Given the description of an element on the screen output the (x, y) to click on. 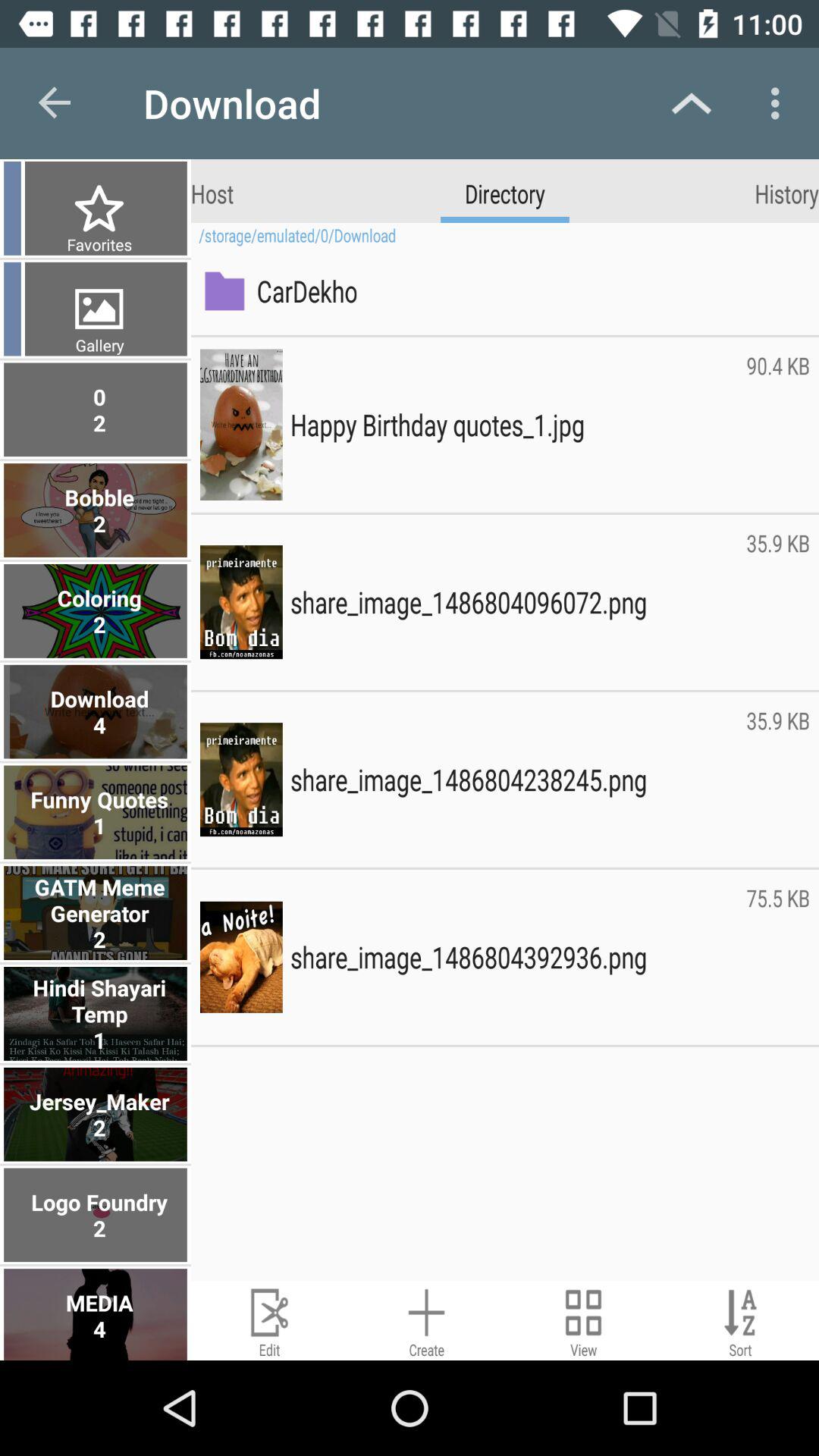
select icon next to the download (55, 103)
